Given the description of an element on the screen output the (x, y) to click on. 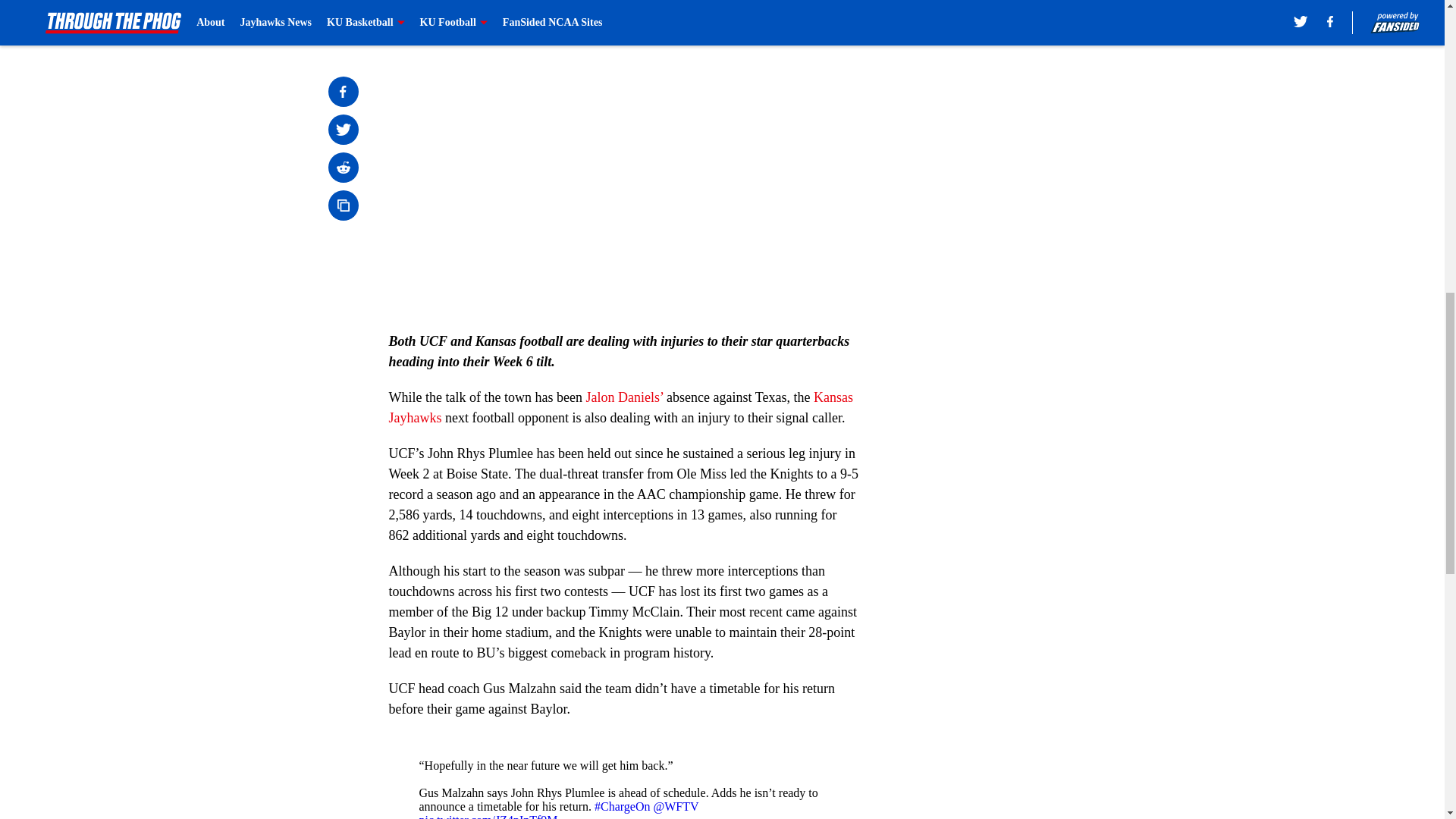
Kansas Jayhawks (619, 407)
